Given the description of an element on the screen output the (x, y) to click on. 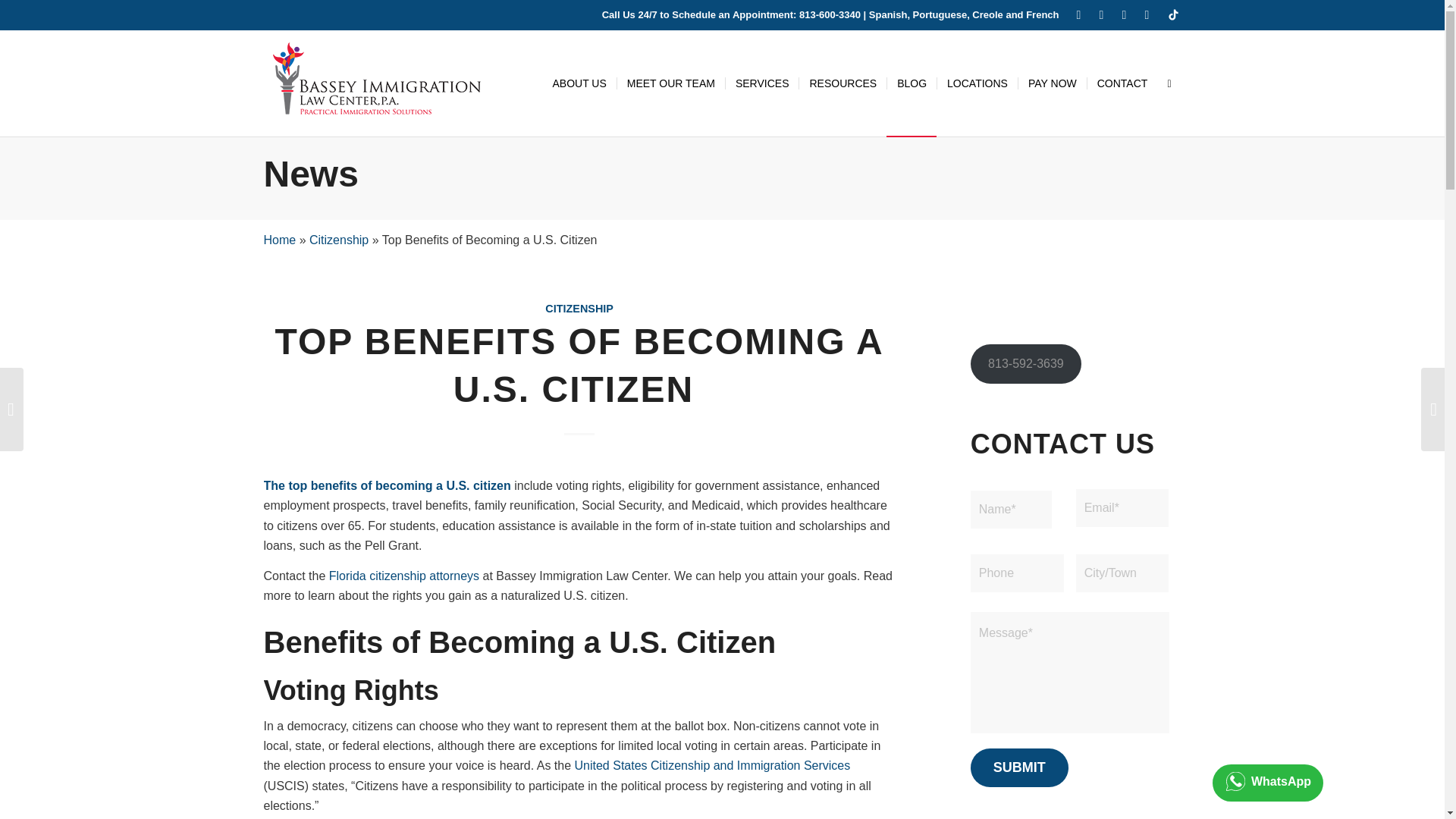
Florida citizenship attorneys (404, 575)
Home (280, 239)
CITIZENSHIP (578, 308)
MEET OUR TEAM (670, 83)
Citizenship (338, 239)
Submit (1019, 767)
United States Citizenship and Immigration Services (712, 765)
